Given the description of an element on the screen output the (x, y) to click on. 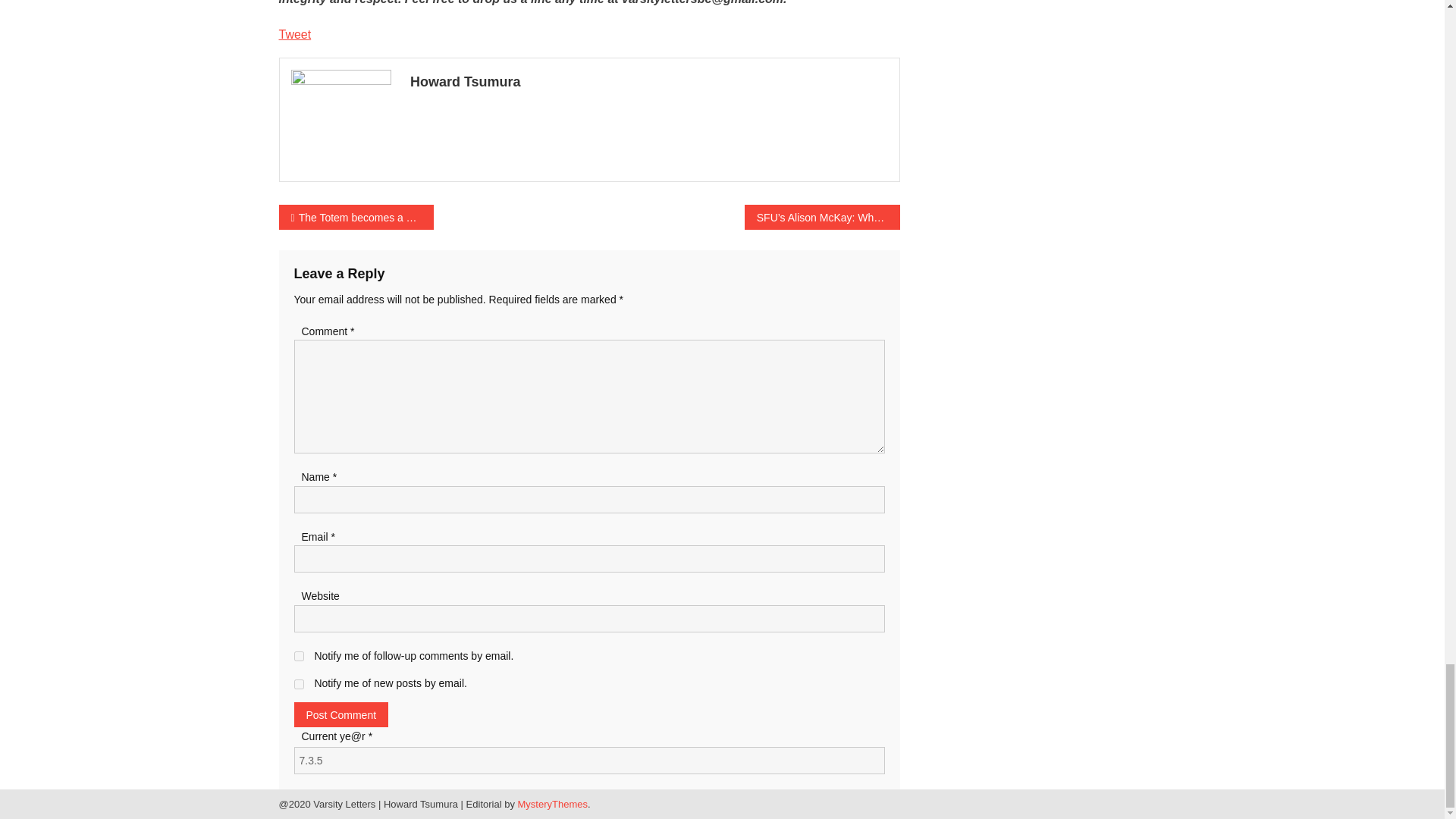
subscribe (299, 684)
Post Comment (341, 714)
7.3.5 (589, 759)
subscribe (299, 655)
